Given the description of an element on the screen output the (x, y) to click on. 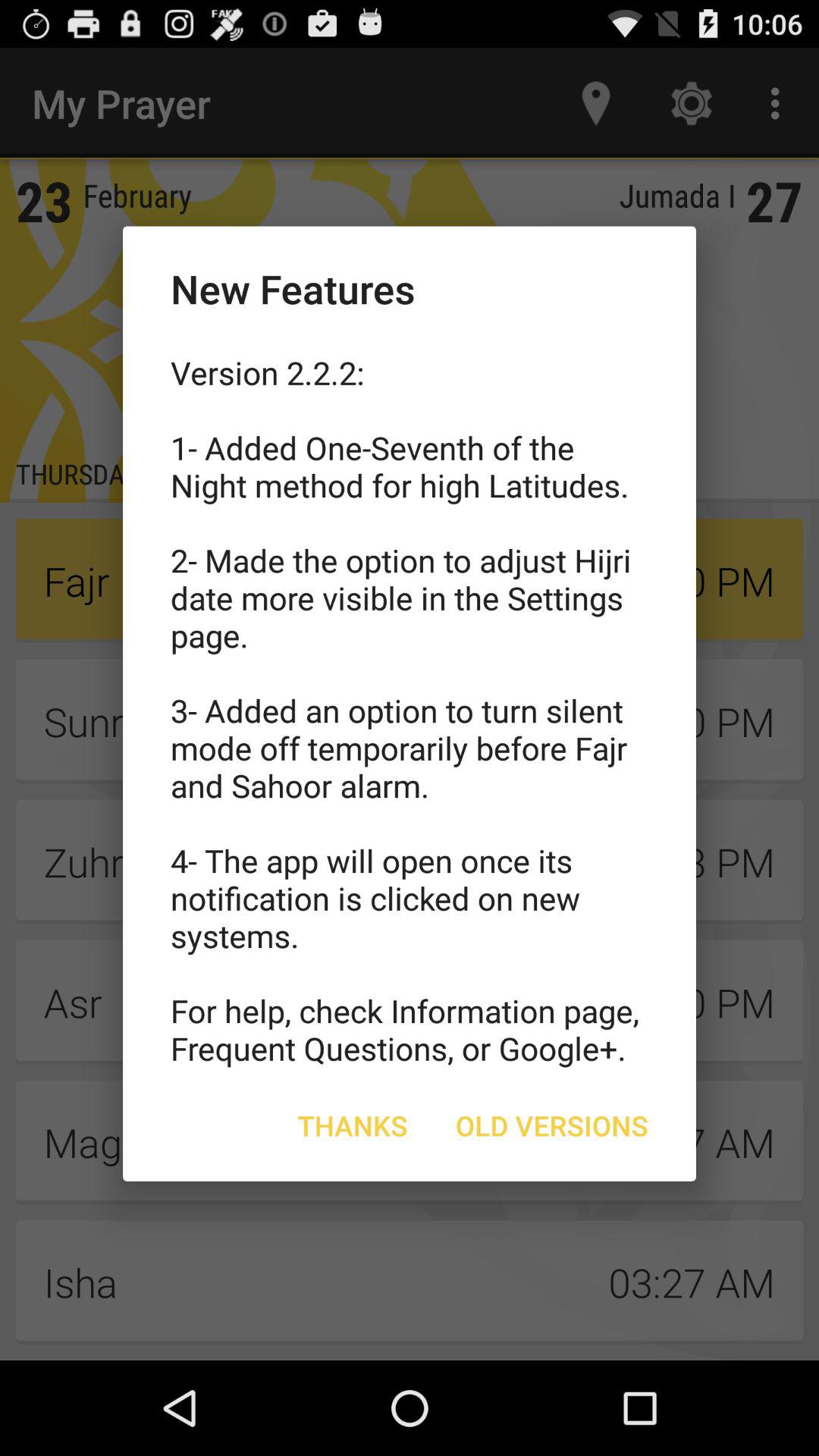
turn on the item at the bottom right corner (551, 1125)
